Given the description of an element on the screen output the (x, y) to click on. 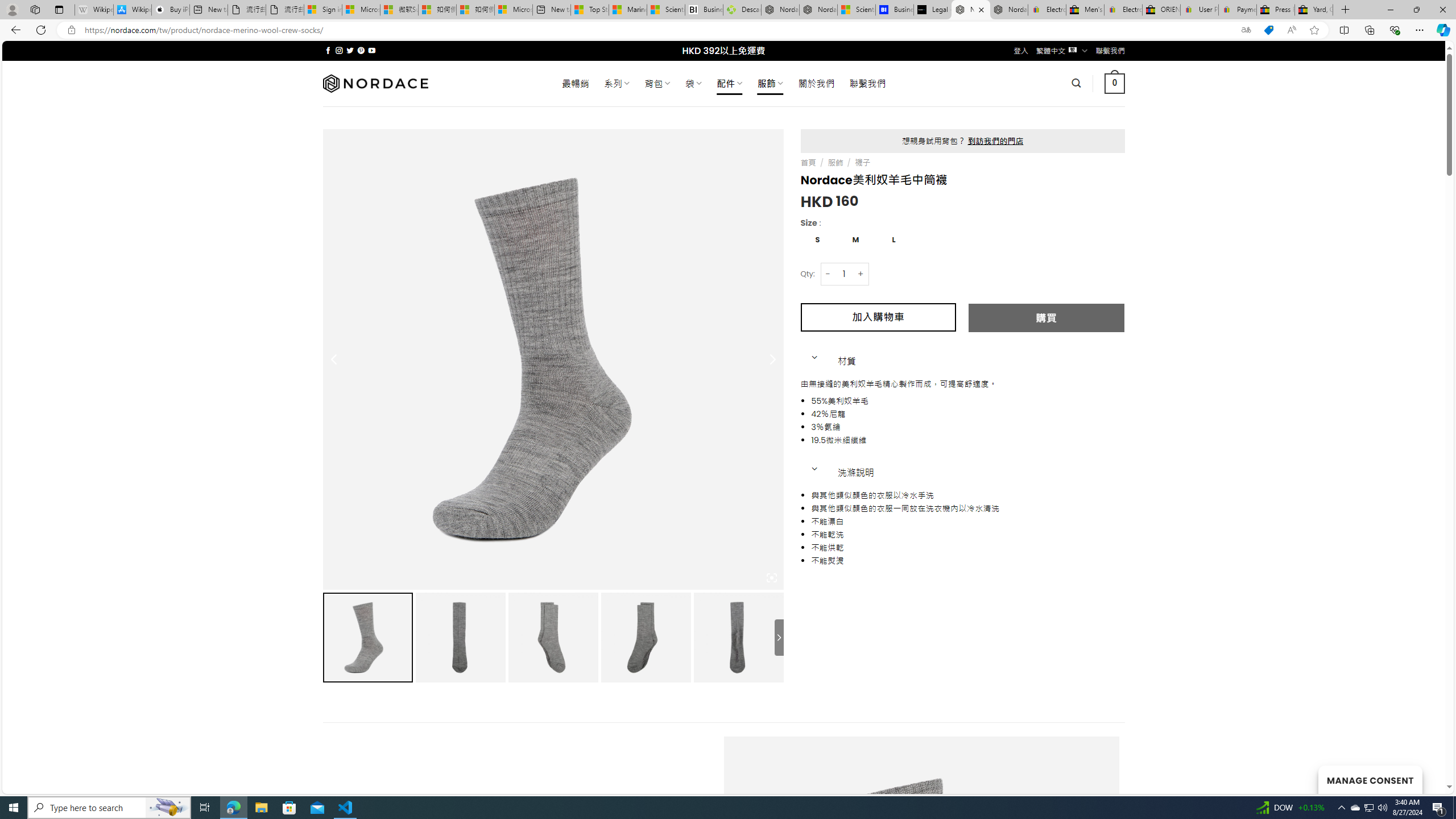
Follow on Twitter (349, 50)
